Given the description of an element on the screen output the (x, y) to click on. 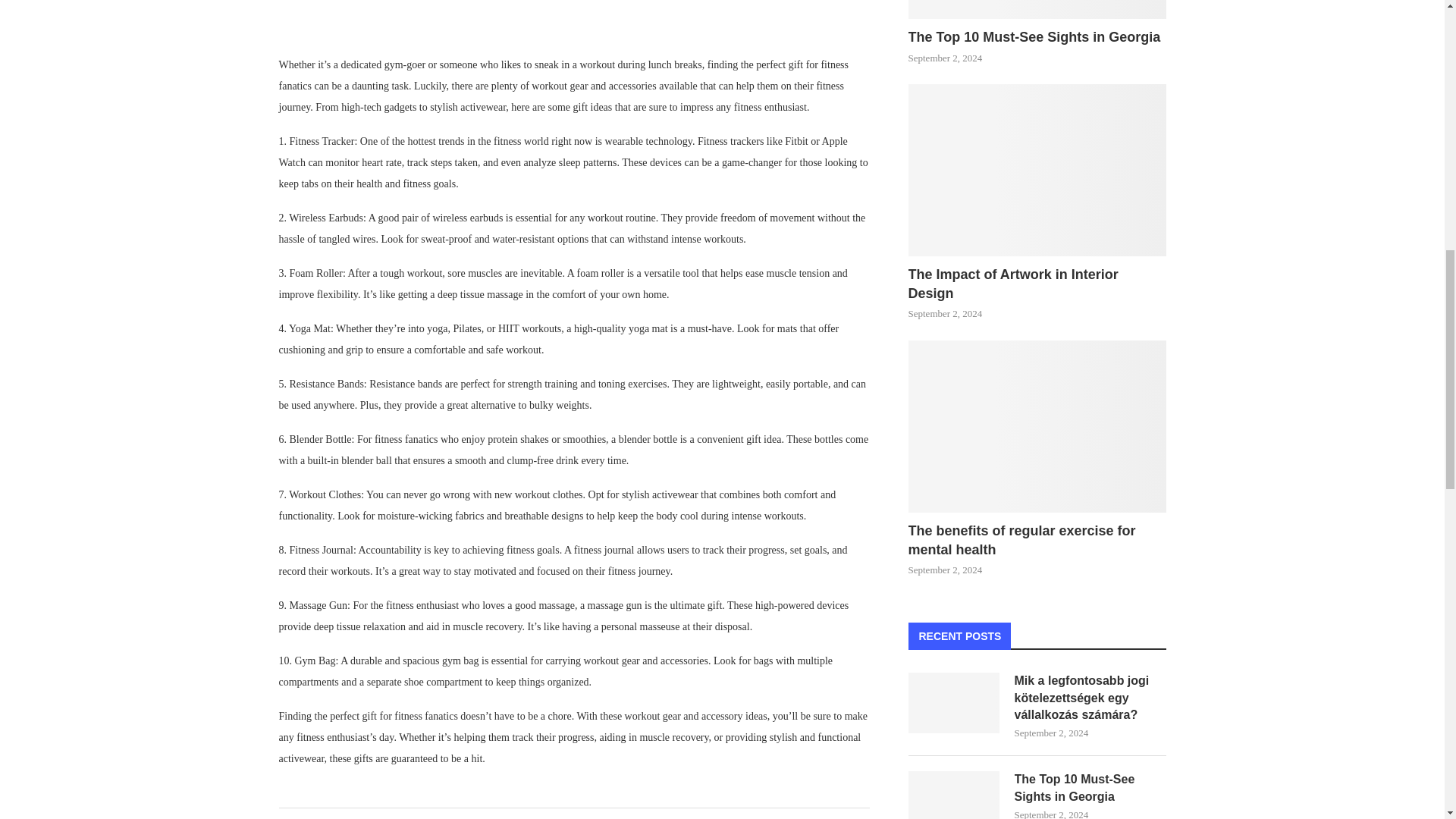
The Top 10 Must-See Sights in Georgia (1037, 36)
Gifts-for-Fitness-Fanatics-Workout-Gear-and-Accessories (574, 17)
The Top 10 Must-See Sights in Georgia (1037, 9)
